Given the description of an element on the screen output the (x, y) to click on. 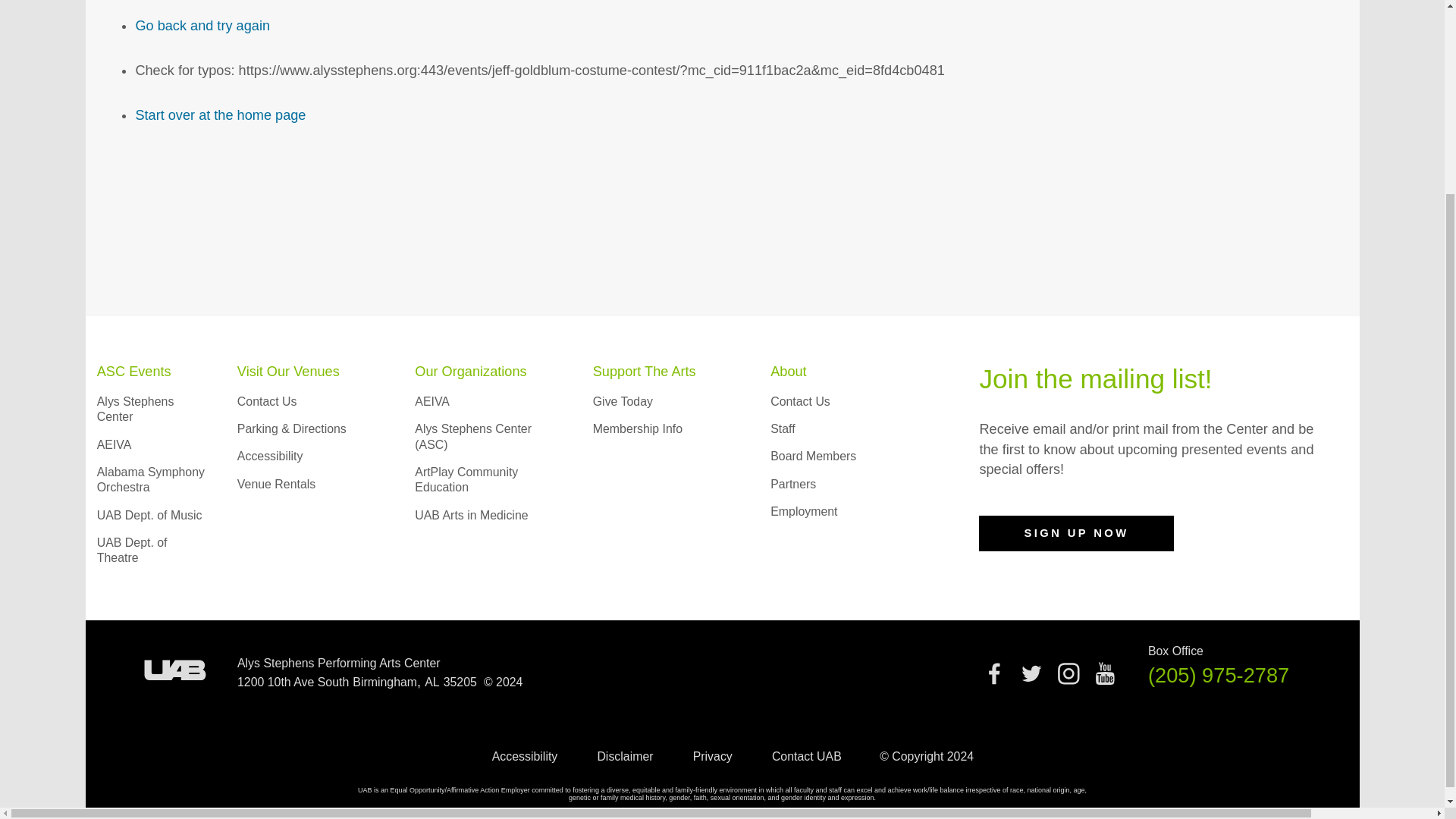
Facebook (994, 673)
ASC Events (134, 371)
Instagram (1068, 679)
Go back and try again (202, 25)
Youtube (1104, 679)
SIGN UP NOW (1075, 533)
Start over at the home page (220, 114)
Facebook (994, 679)
Twitter (1031, 673)
Twitter (1031, 679)
